Given the description of an element on the screen output the (x, y) to click on. 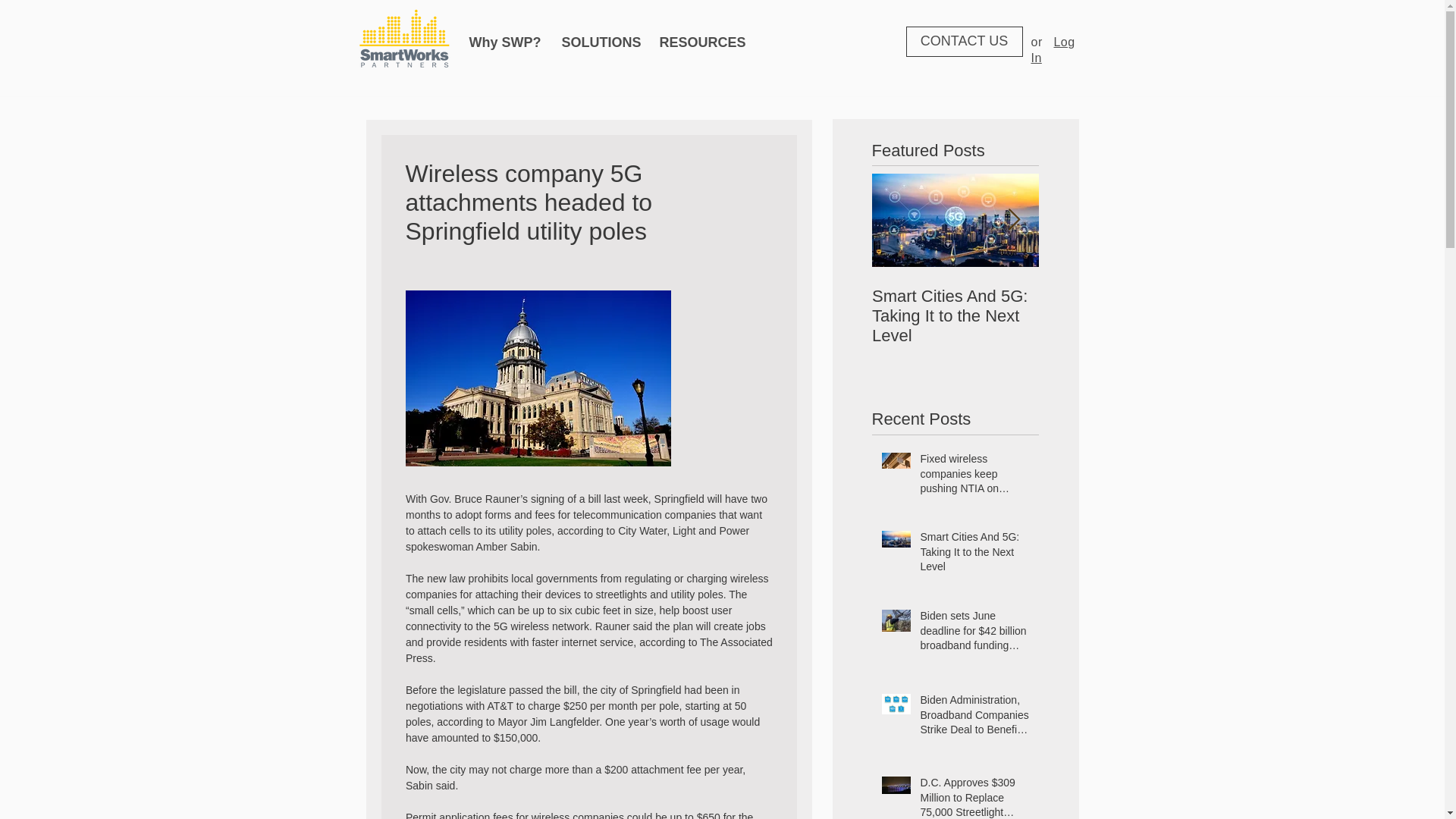
Treat Smart City Tech like Sewers, or Better (1122, 305)
Smart Cities And 5G: Taking It to the Next Level (955, 315)
CONTACT US (963, 41)
SOLUTIONS (598, 42)
Log In (1052, 50)
Why SWP? (504, 42)
Smart Cities And 5G: Taking It to the Next Level (974, 554)
Fixed wireless companies keep pushing NTIA on BEAD rules (974, 477)
